Given the description of an element on the screen output the (x, y) to click on. 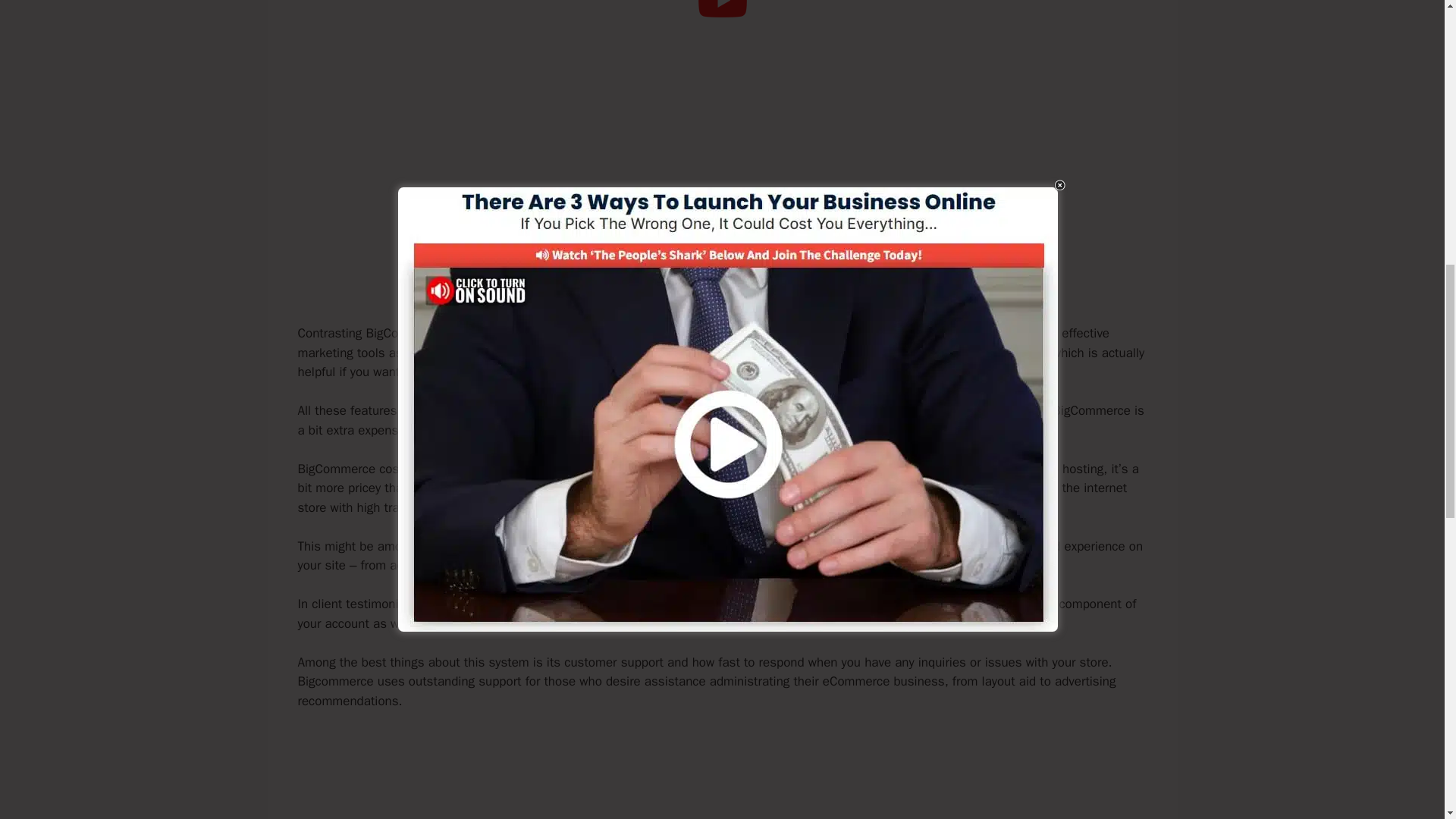
Obtain Proven Ecommerce Case Study (721, 281)
Scroll back to top (1406, 720)
